Given the description of an element on the screen output the (x, y) to click on. 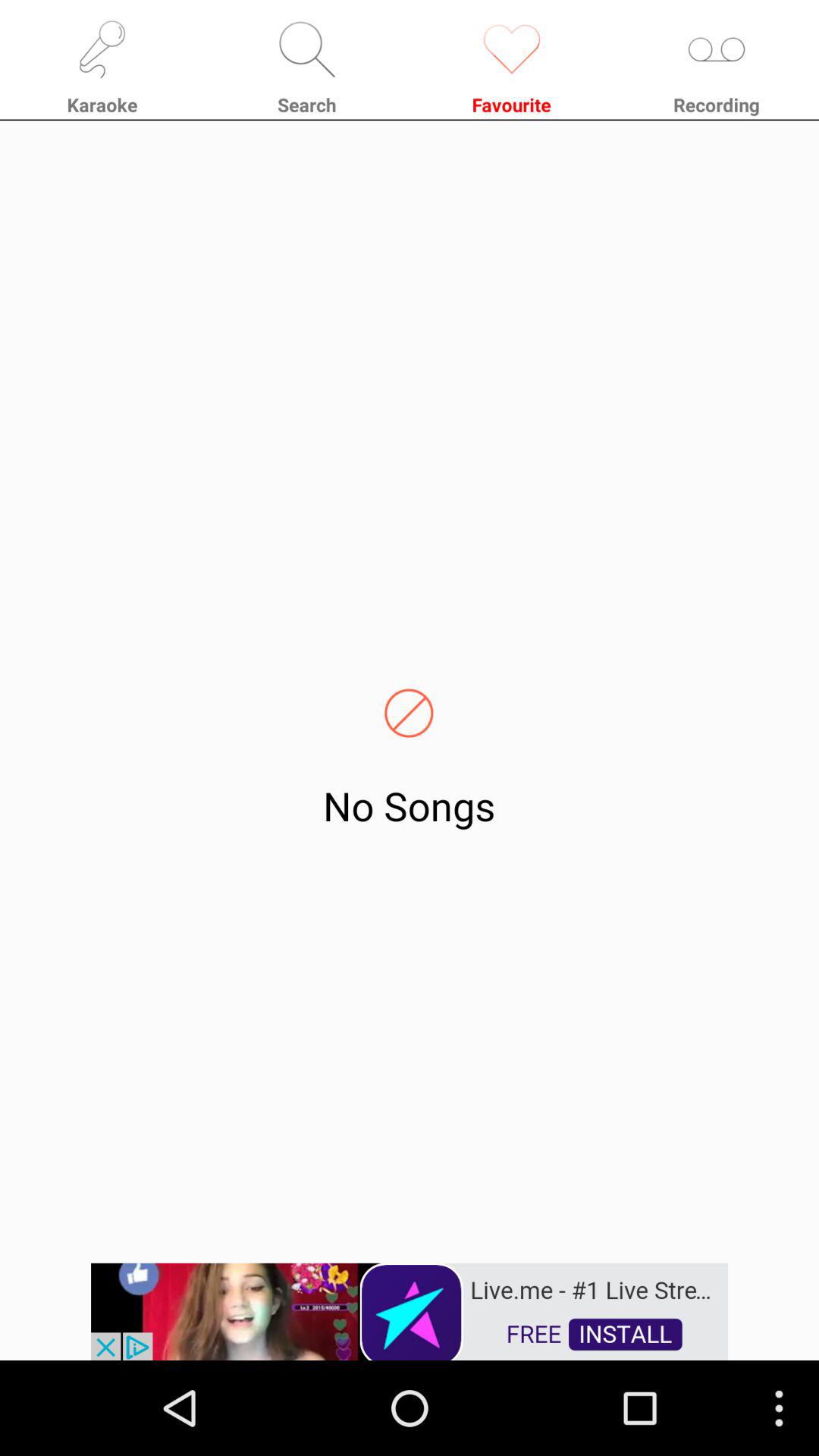
remove the add (409, 1310)
